Given the description of an element on the screen output the (x, y) to click on. 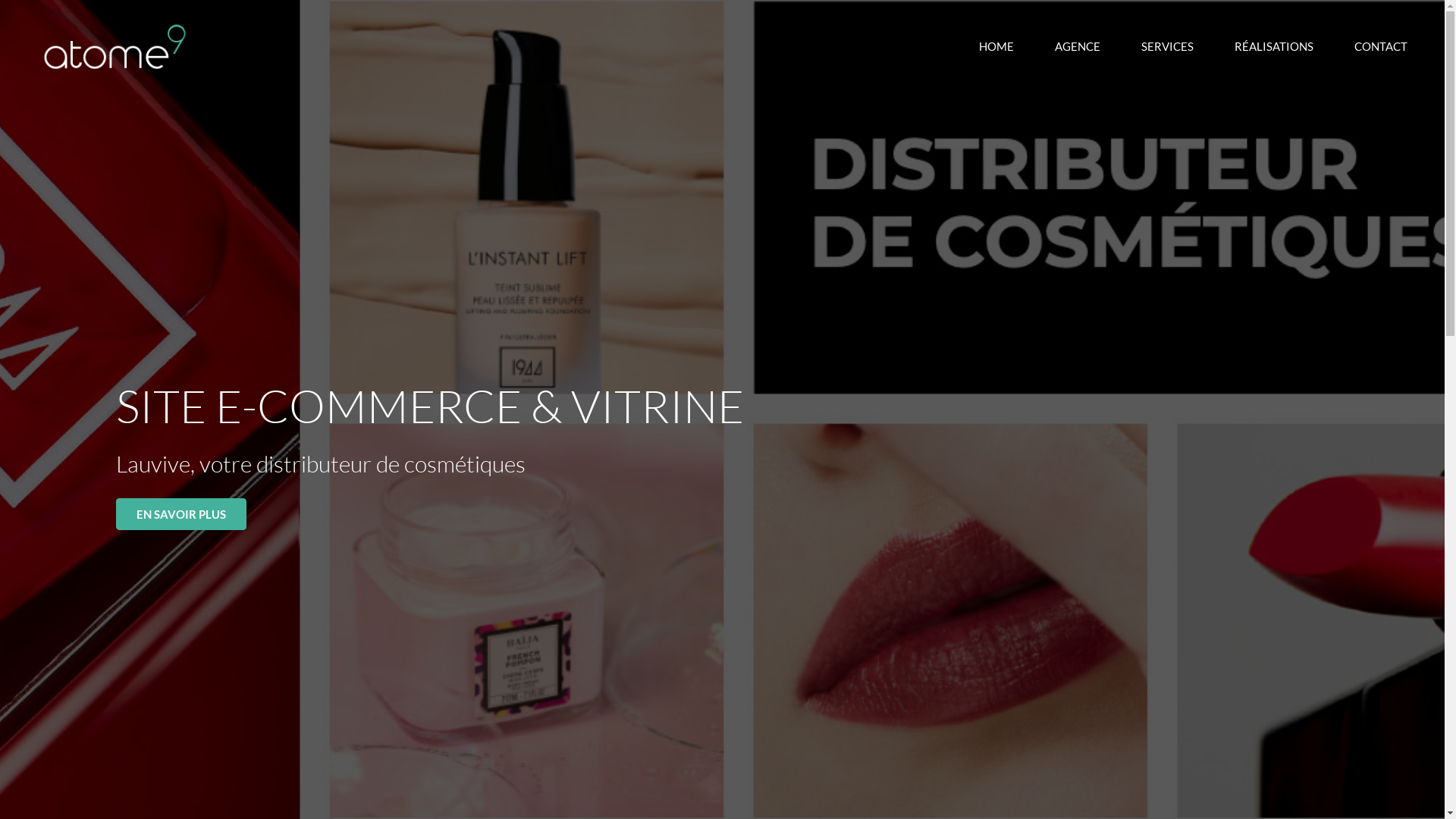
HOME Element type: text (996, 46)
AGENCE Element type: text (1077, 46)
SERVICES Element type: text (1167, 46)
EN SAVOIR PLUS Element type: text (180, 514)
CONTACT Element type: text (1380, 46)
